Given the description of an element on the screen output the (x, y) to click on. 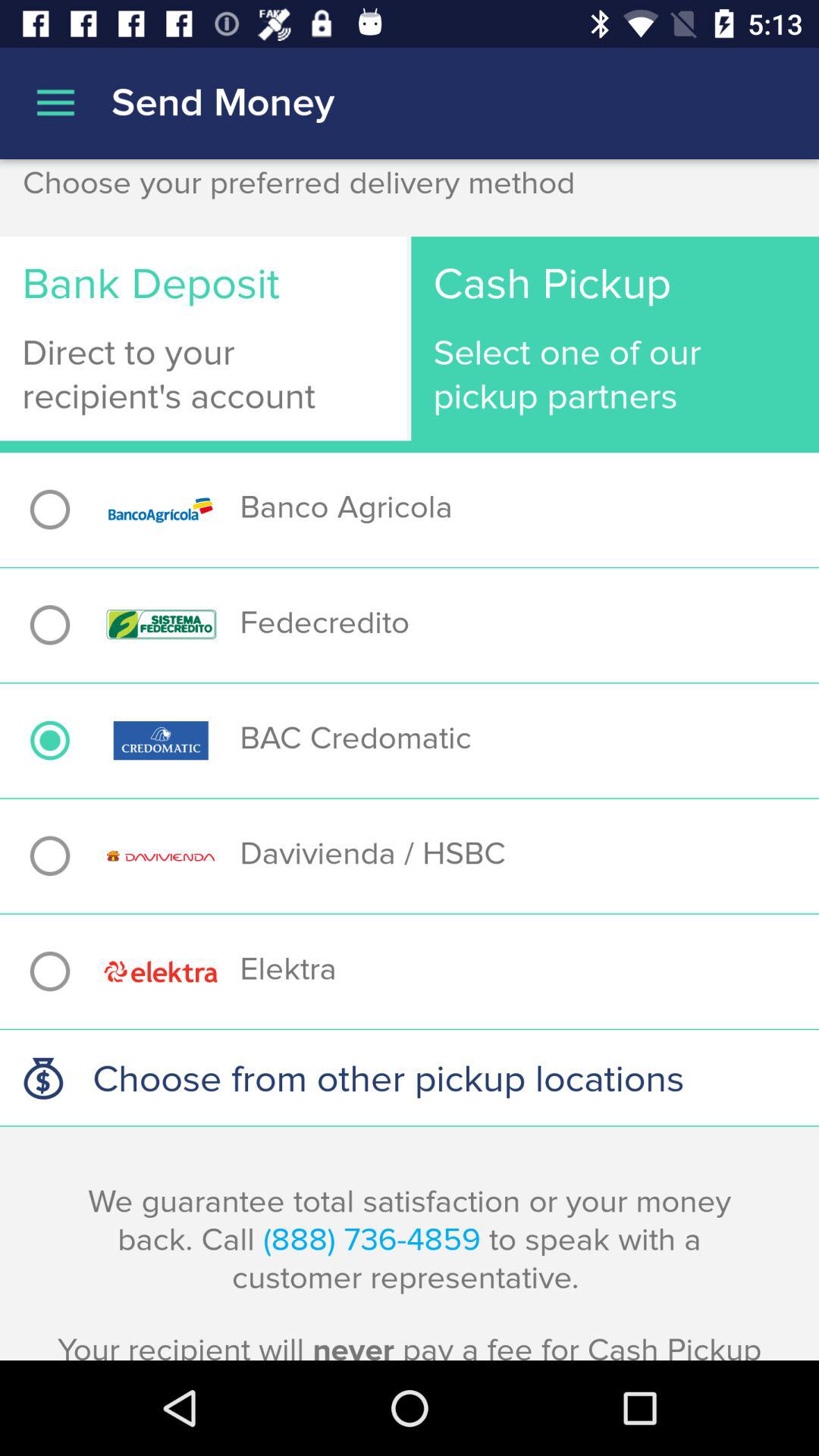
open the item next to send money item (55, 103)
